Given the description of an element on the screen output the (x, y) to click on. 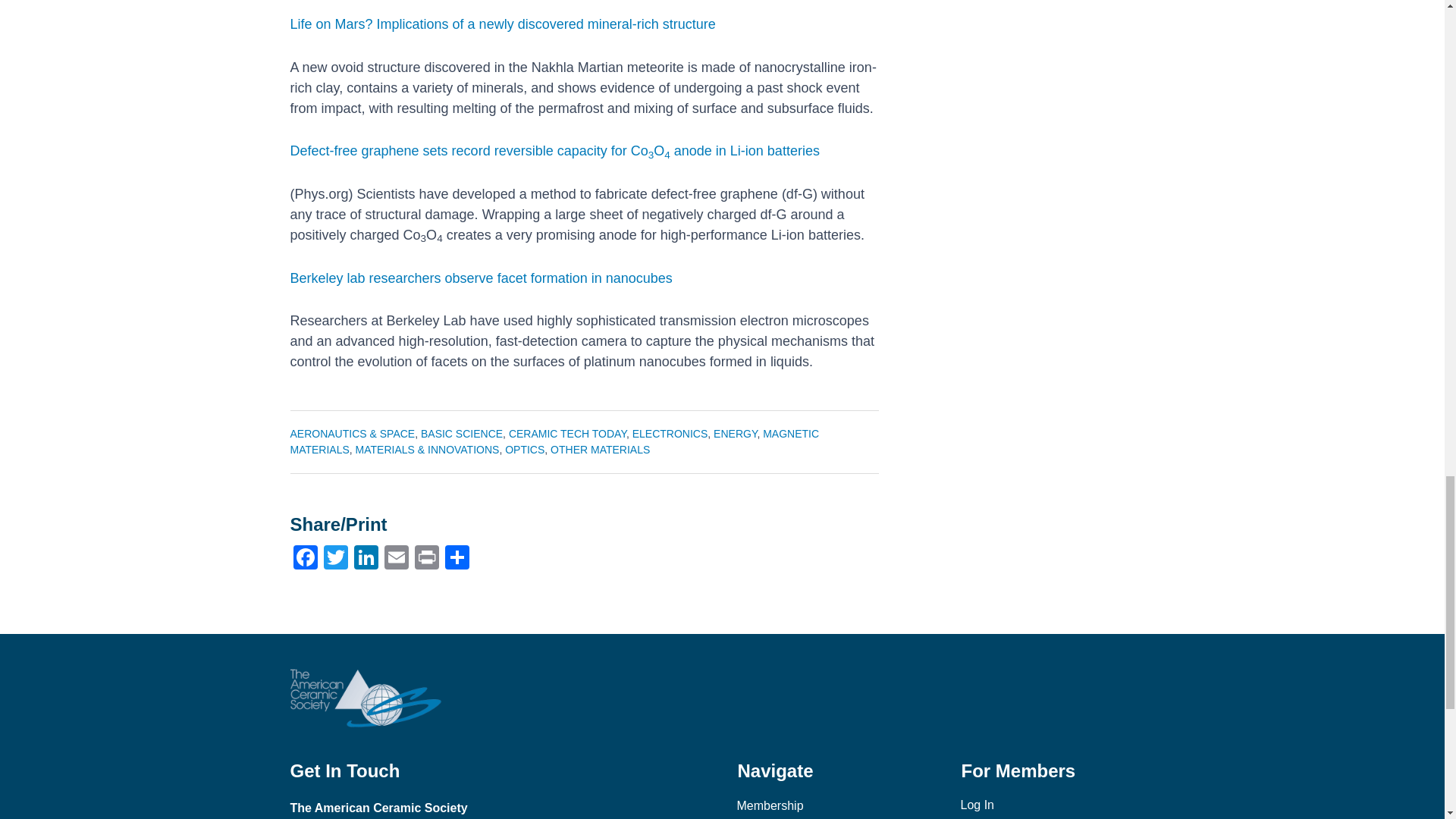
Print (425, 559)
Facebook (304, 559)
LinkedIn (365, 559)
Twitter (335, 559)
Email (395, 559)
